Given the description of an element on the screen output the (x, y) to click on. 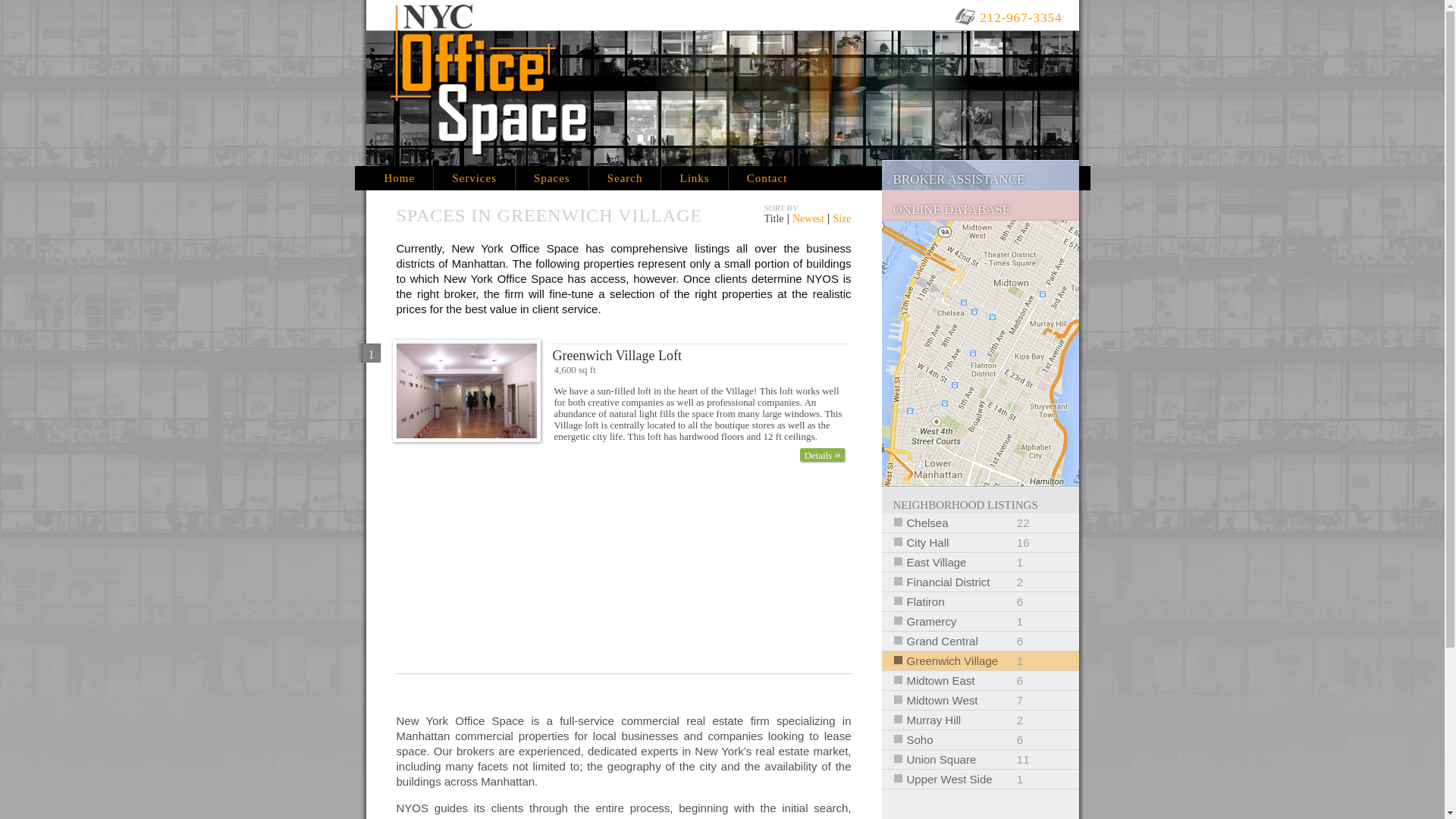
Home (979, 620)
Spaces (398, 178)
Home (551, 178)
Services (398, 178)
212-967-3354 (473, 178)
Search (1016, 16)
Links (979, 581)
Contact (979, 640)
Spaces (624, 178)
Title (693, 178)
